Given the description of an element on the screen output the (x, y) to click on. 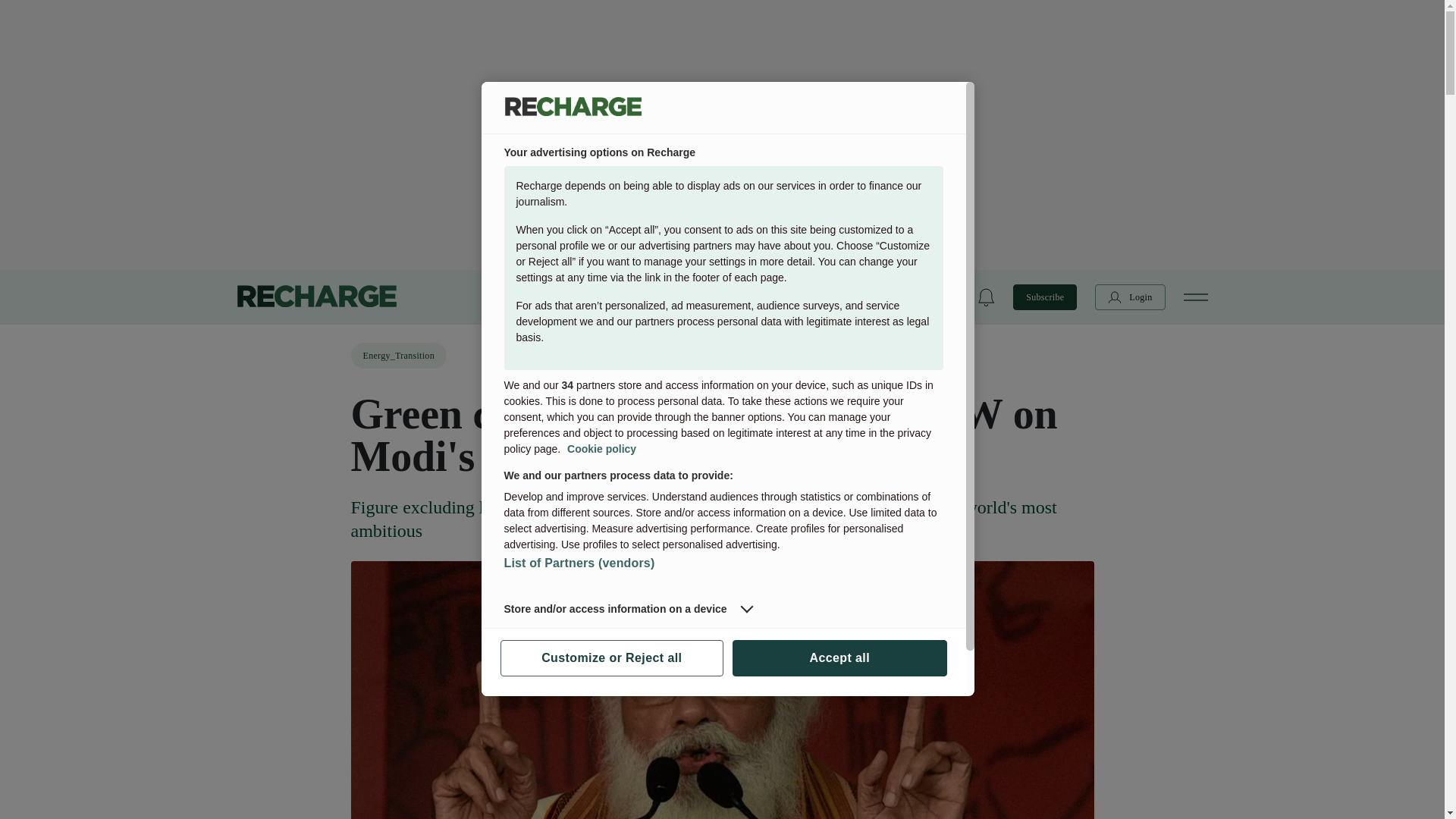
Subscribe (1045, 296)
Subscribe (1045, 296)
Login (1129, 296)
Login (1129, 296)
